Given the description of an element on the screen output the (x, y) to click on. 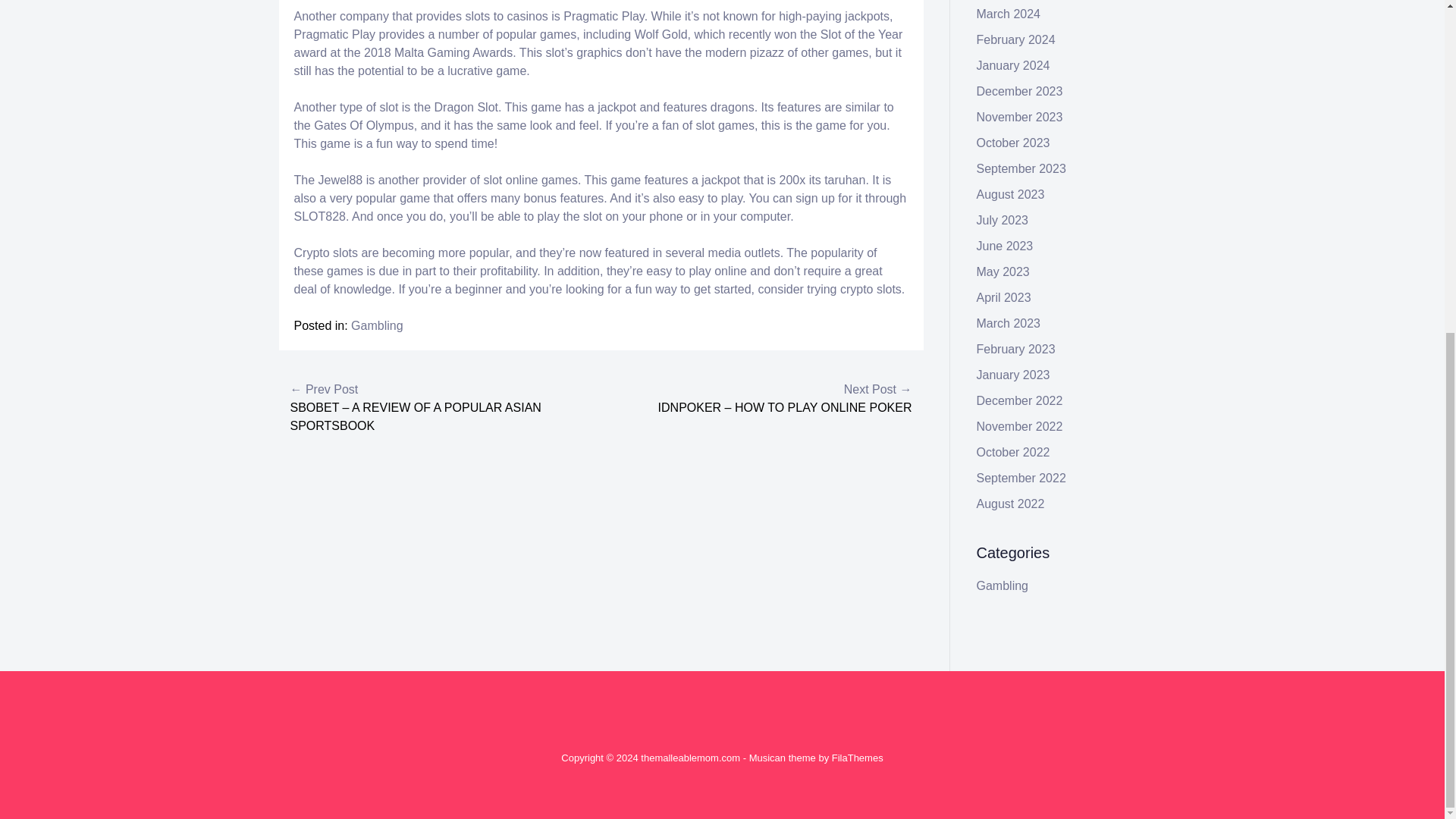
November 2022 (1019, 426)
Gambling (376, 325)
October 2023 (1012, 142)
December 2022 (1019, 400)
September 2023 (1020, 168)
January 2023 (1012, 374)
January 2024 (1012, 65)
June 2023 (1004, 245)
October 2022 (1012, 451)
February 2023 (1015, 349)
